Given the description of an element on the screen output the (x, y) to click on. 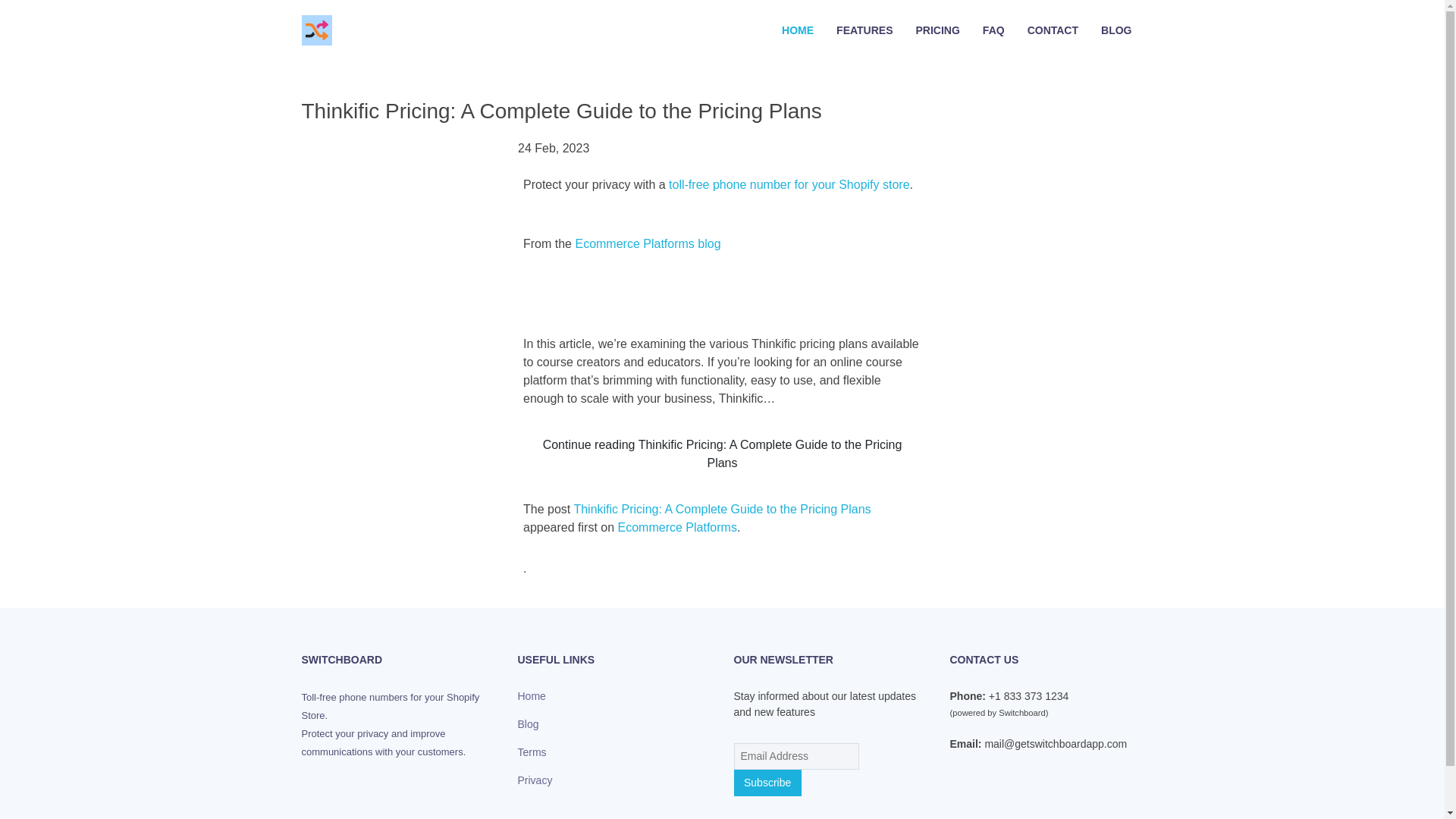
Subscribe (767, 782)
Ecommerce Platforms (676, 526)
Terms (531, 752)
toll-free phone number for your Shopify store (789, 184)
FEATURES (864, 30)
Privacy (533, 779)
Home (530, 695)
Thinkific Pricing: A Complete Guide to the Pricing Plans (721, 508)
Subscribe (767, 782)
BLOG (1115, 30)
Blog (527, 724)
Ecommerce Platforms blog (647, 243)
HOME (797, 30)
FAQ (993, 30)
